Given the description of an element on the screen output the (x, y) to click on. 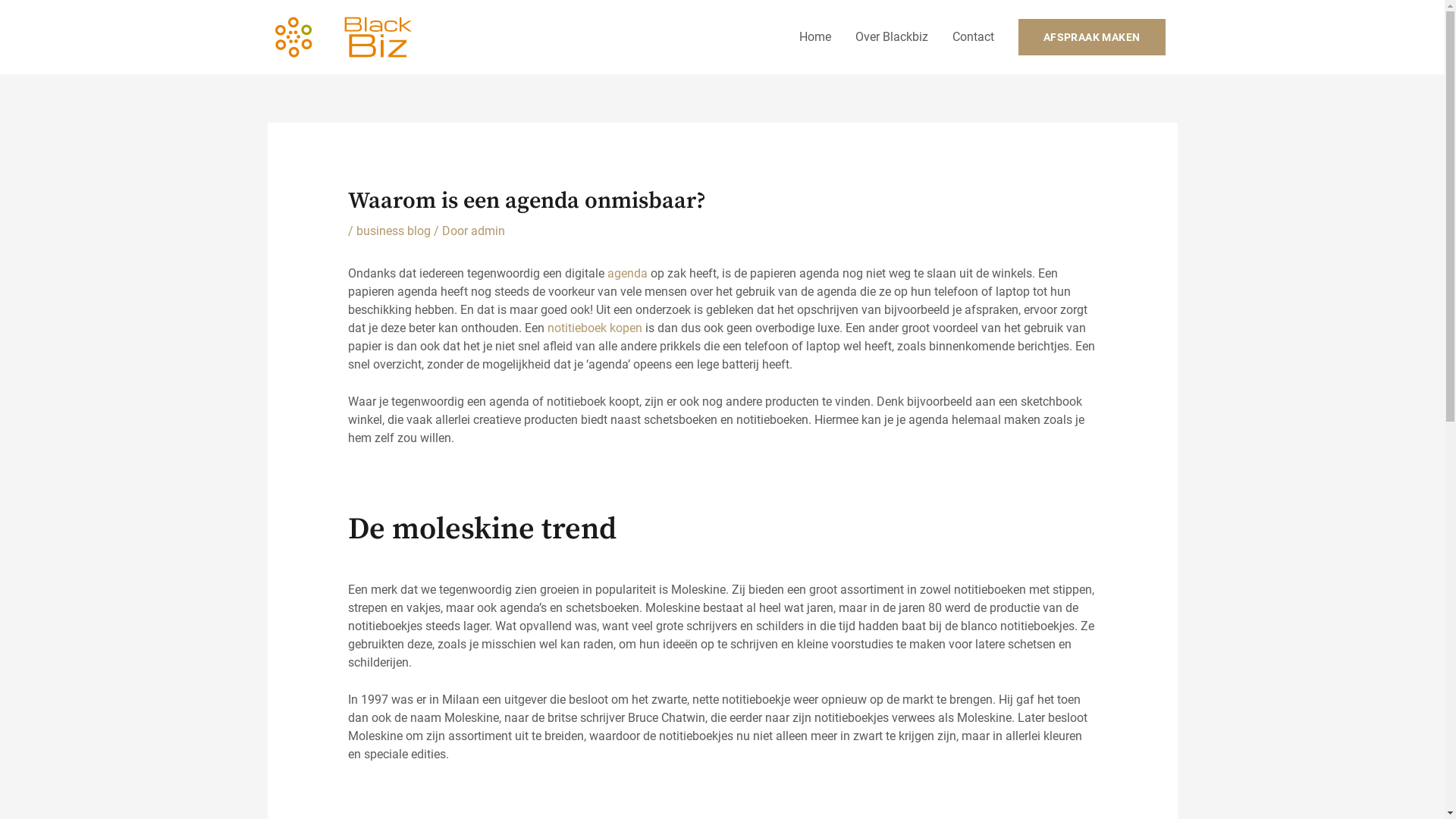
notitieboek kopen Element type: text (594, 327)
admin Element type: text (487, 230)
Contact Element type: text (973, 36)
agenda Element type: text (627, 273)
AFSPRAAK MAKEN Element type: text (1091, 36)
Home Element type: text (815, 36)
business blog Element type: text (393, 230)
Over Blackbiz Element type: text (891, 36)
